Given the description of an element on the screen output the (x, y) to click on. 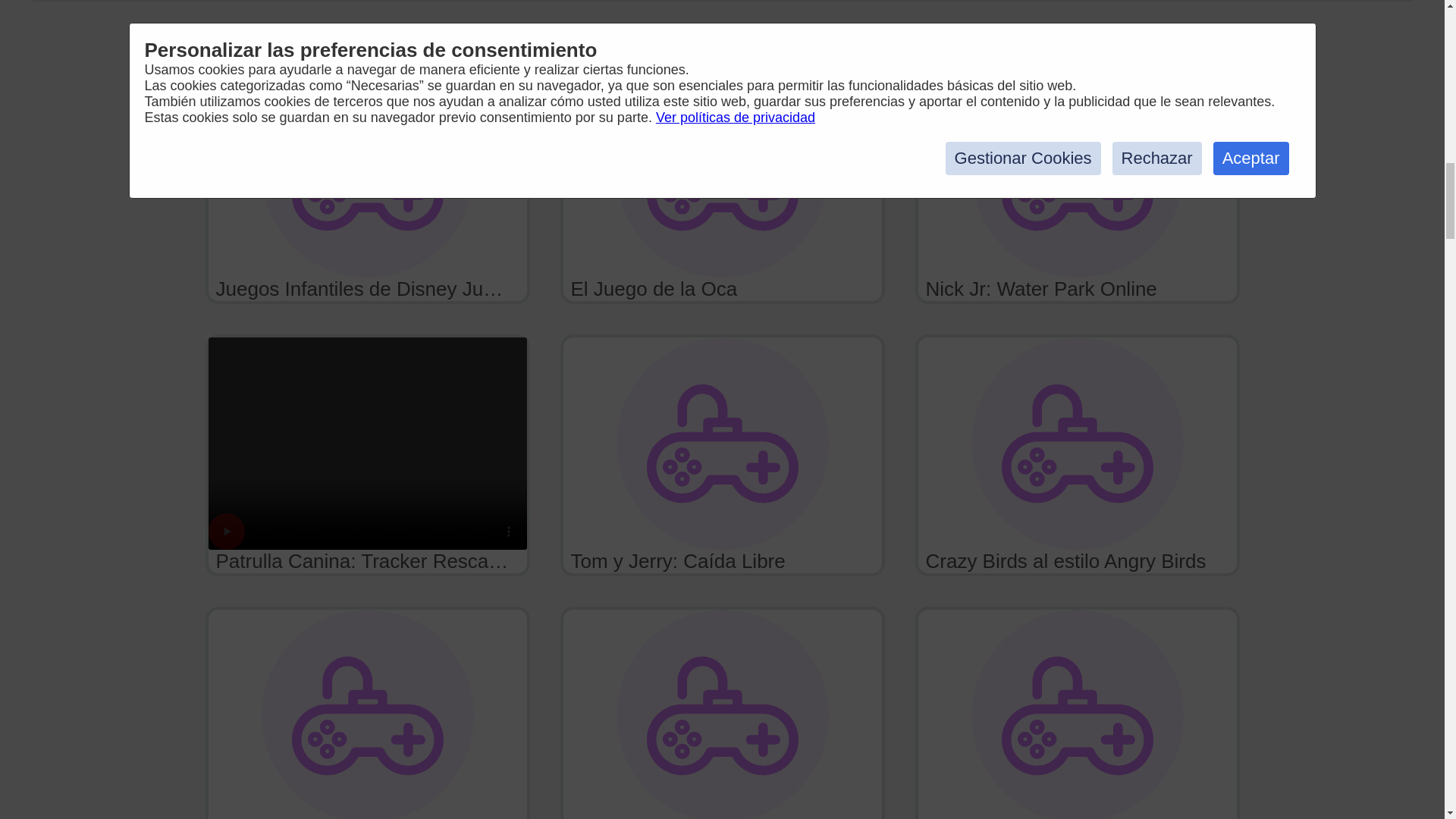
Juegos Infantiles de Disney Junior (367, 182)
